Given the description of an element on the screen output the (x, y) to click on. 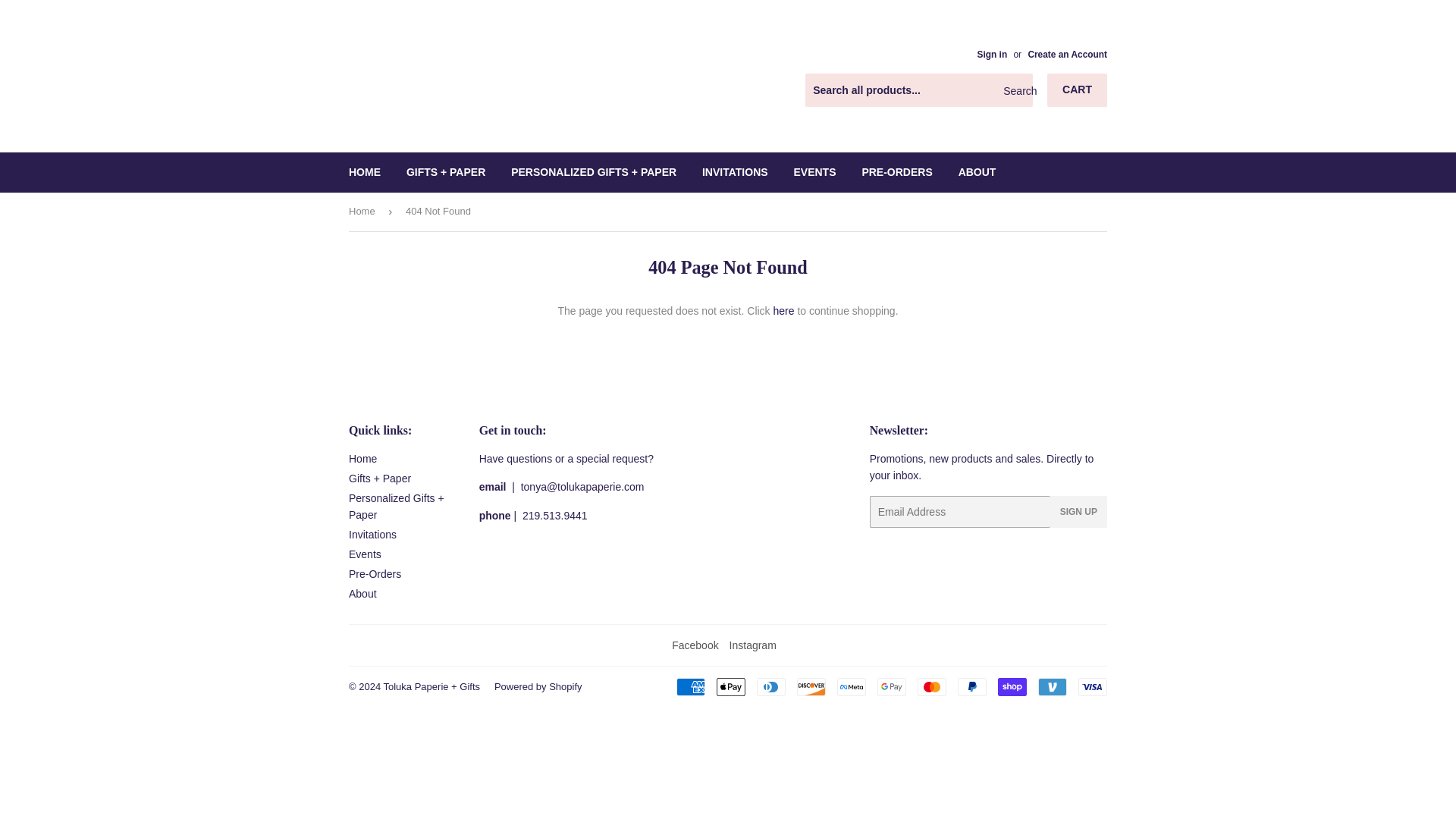
Google Pay (891, 687)
Venmo (1052, 687)
PayPal (972, 687)
Visa (1092, 687)
Search (1015, 91)
American Express (690, 687)
Meta Pay (851, 687)
Apple Pay (730, 687)
Sign in (991, 54)
Create an Account (1066, 54)
